Given the description of an element on the screen output the (x, y) to click on. 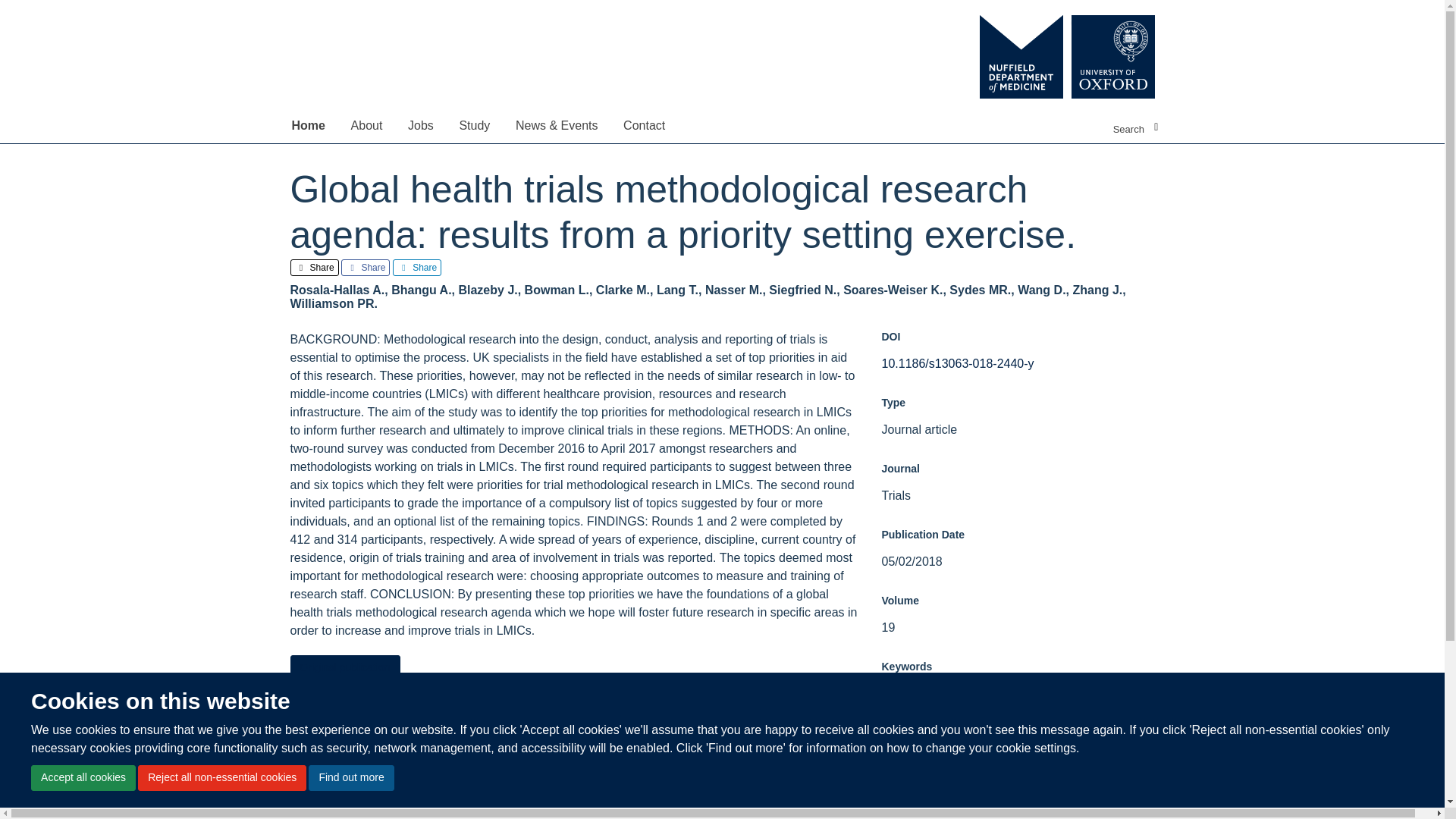
Reject all non-essential cookies (221, 777)
Find out more (350, 777)
Accept all cookies (82, 777)
